Given the description of an element on the screen output the (x, y) to click on. 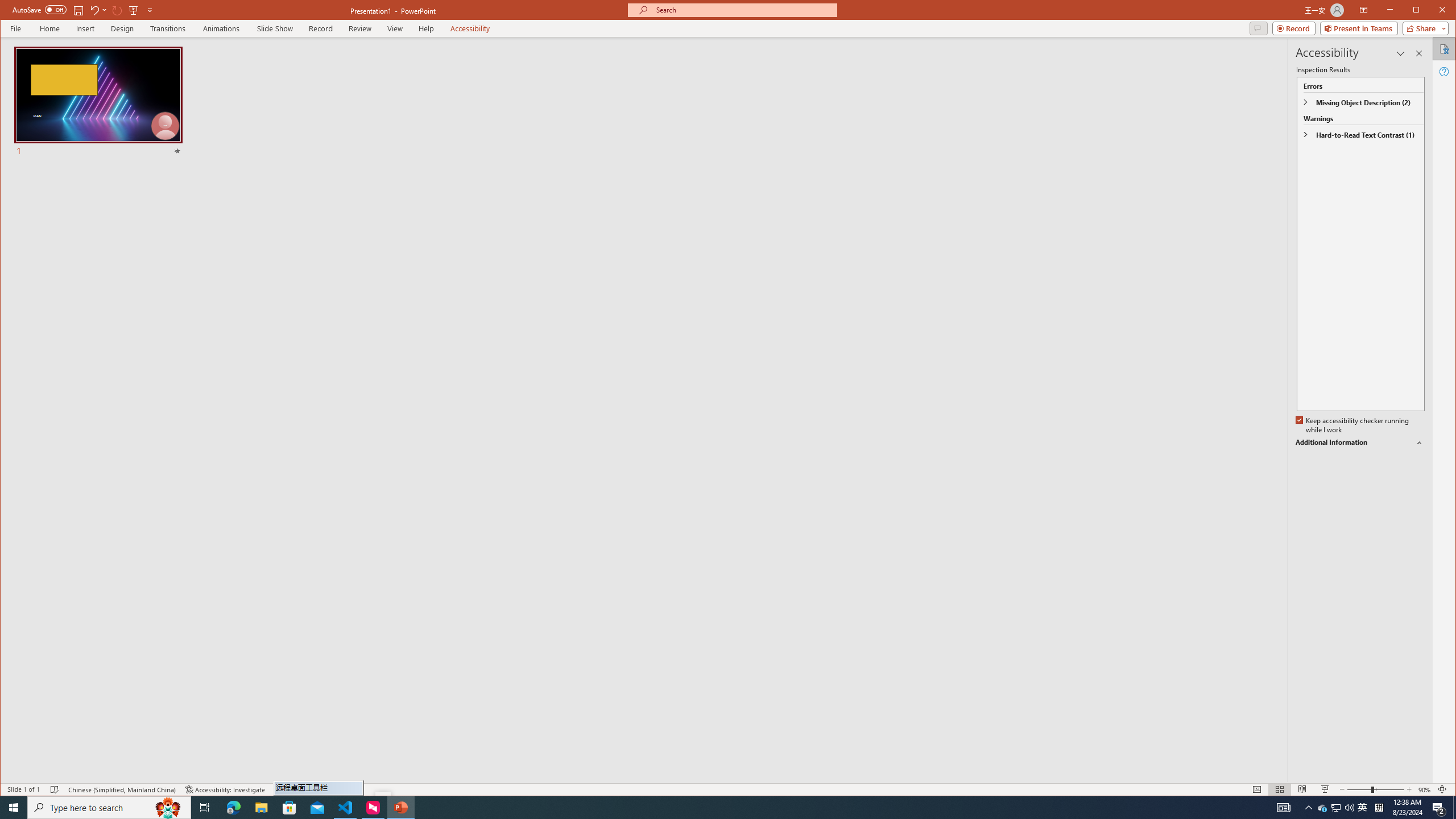
Visual Studio Code - 1 running window (345, 807)
Quick Access Toolbar (1335, 807)
PowerPoint - 1 running window (83, 9)
Microsoft Store (400, 807)
Animations (289, 807)
Record (221, 28)
Start (320, 28)
Undo (13, 807)
Record (98, 9)
Type here to search (1294, 28)
System (108, 807)
Running applications (10, 10)
